Given the description of an element on the screen output the (x, y) to click on. 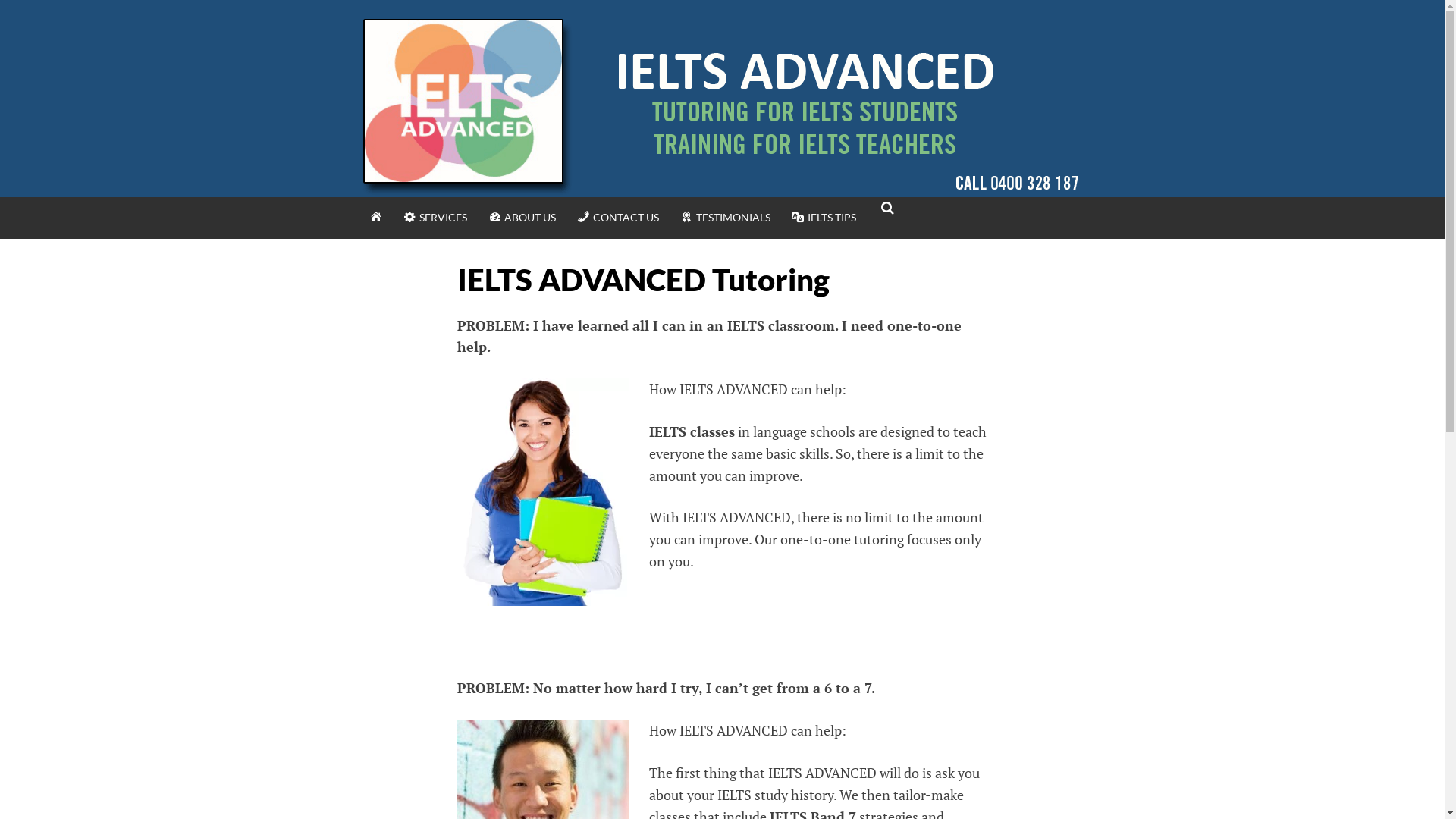
HOME Element type: text (374, 217)
IELTS TIPS Element type: text (823, 217)
ABOUT US Element type: text (521, 217)
SERVICES Element type: text (434, 217)
0400 328 187 Element type: text (502, 214)
IELTS ADVANCED Element type: text (110, 226)
SEARCH Element type: text (886, 236)
TESTIMONIALS Element type: text (725, 217)
CONTACT US Element type: text (617, 217)
